Given the description of an element on the screen output the (x, y) to click on. 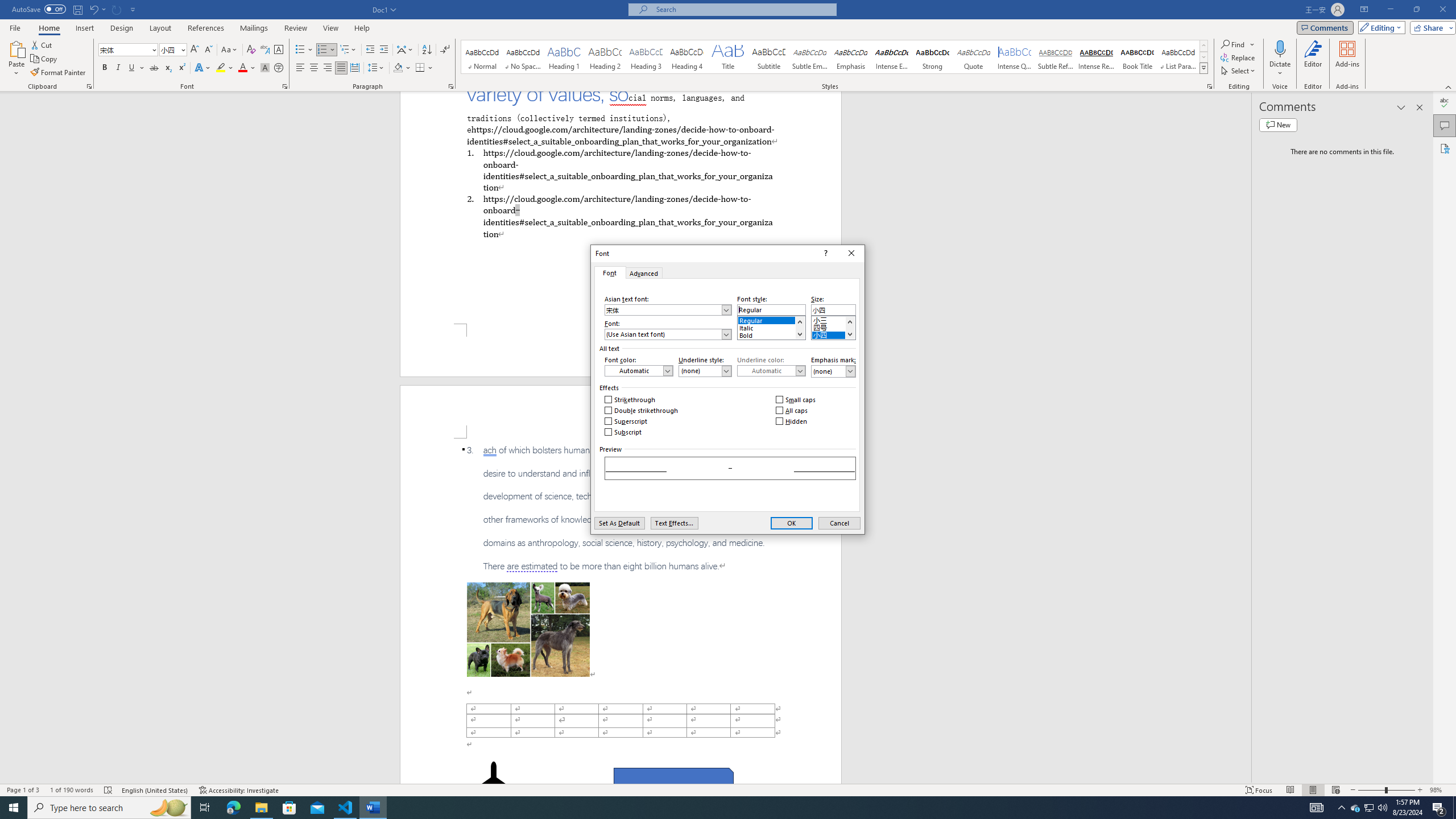
Bold (104, 67)
Grow Font (193, 49)
Title (727, 56)
Hidden (792, 420)
Office Clipboard... (88, 85)
Intense Quote (1014, 56)
Double strikethrough (641, 410)
Align Left (300, 67)
AutoSave (38, 9)
Strikethrough (154, 67)
Paste (16, 58)
Font Color Automatic (241, 67)
Change Case (229, 49)
Task Pane Options (1400, 107)
Ribbon Display Options (1364, 9)
